Given the description of an element on the screen output the (x, y) to click on. 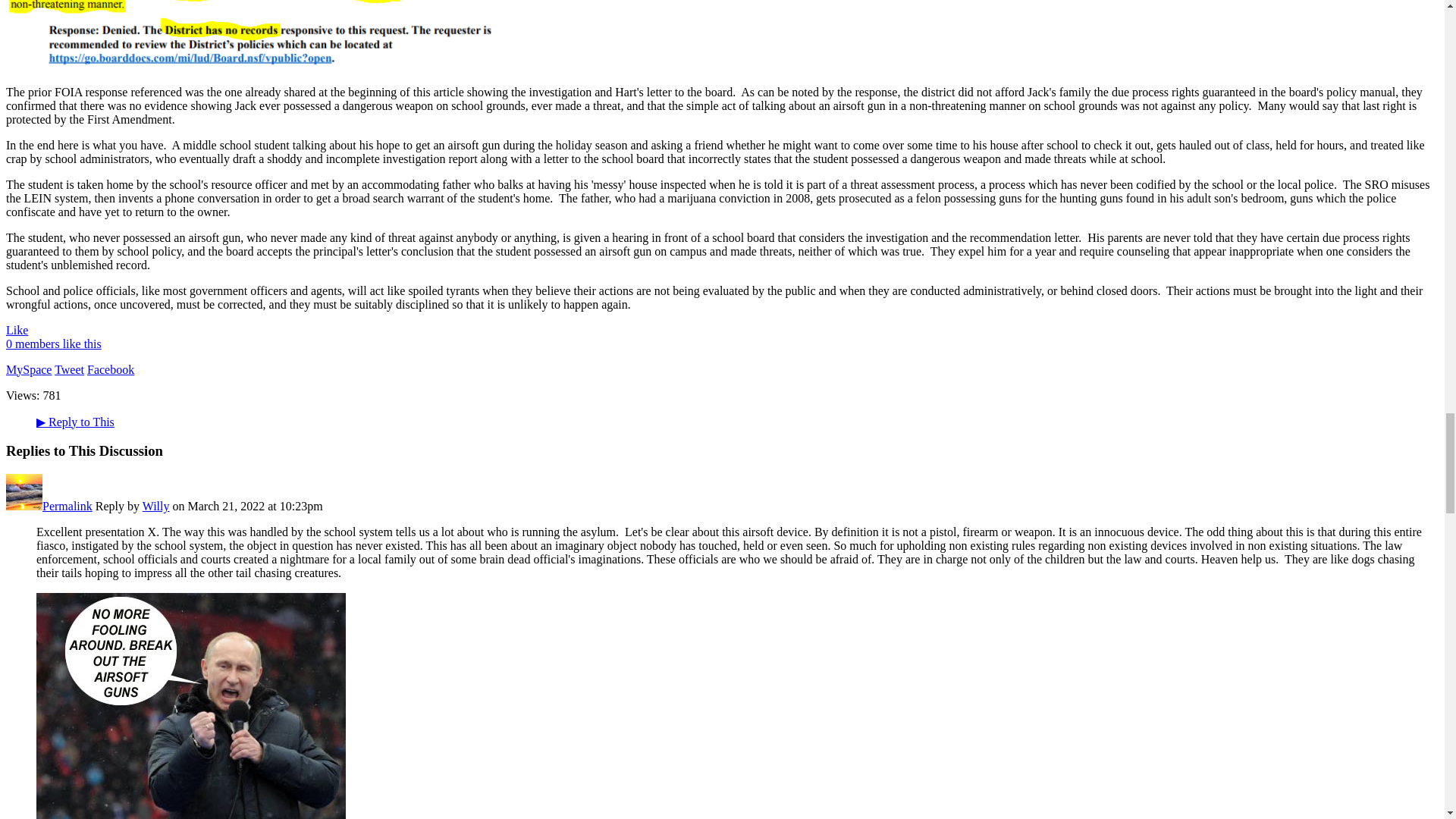
Willy (23, 505)
Permalink to this Reply (67, 505)
